Given the description of an element on the screen output the (x, y) to click on. 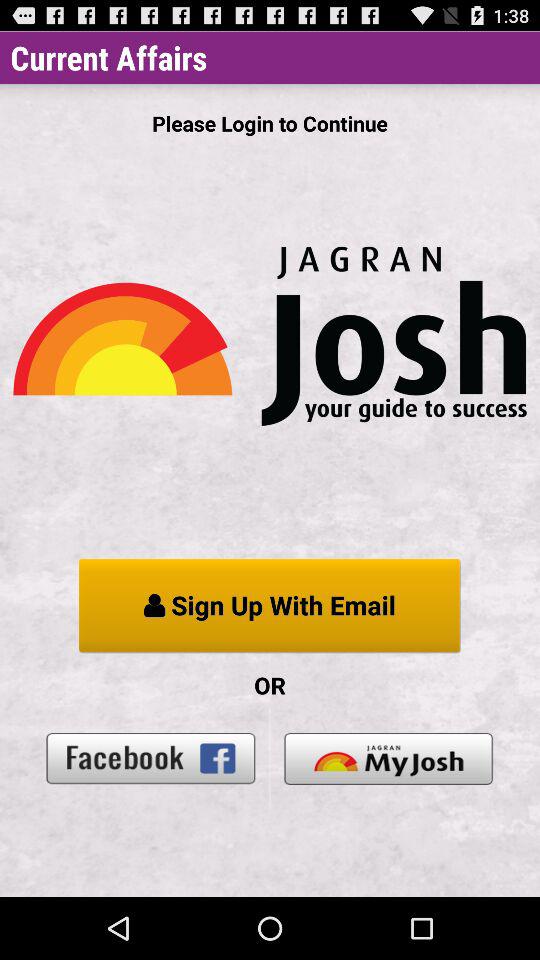
click sign up with (269, 605)
